Given the description of an element on the screen output the (x, y) to click on. 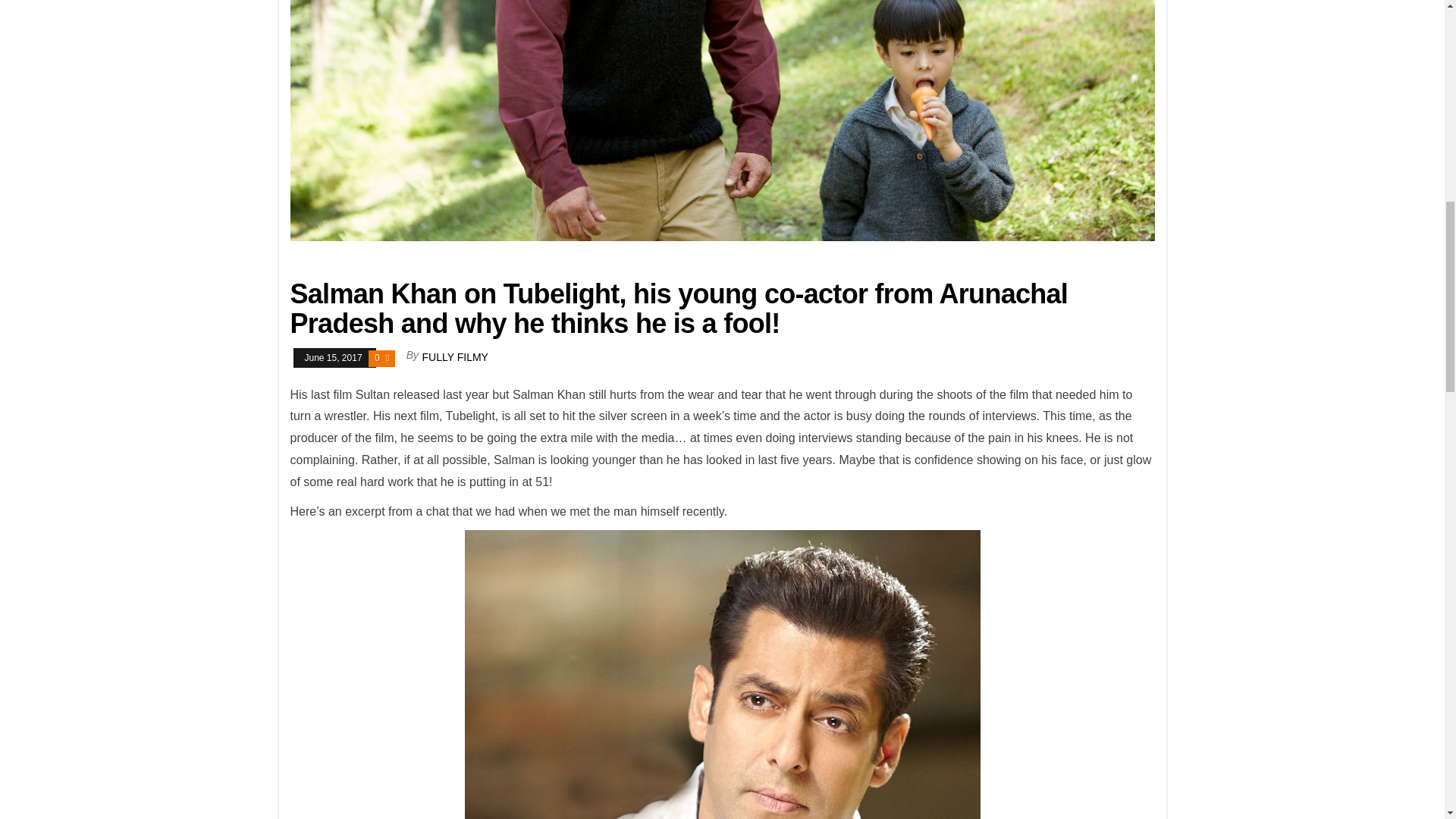
FULLY FILMY (454, 357)
